Given the description of an element on the screen output the (x, y) to click on. 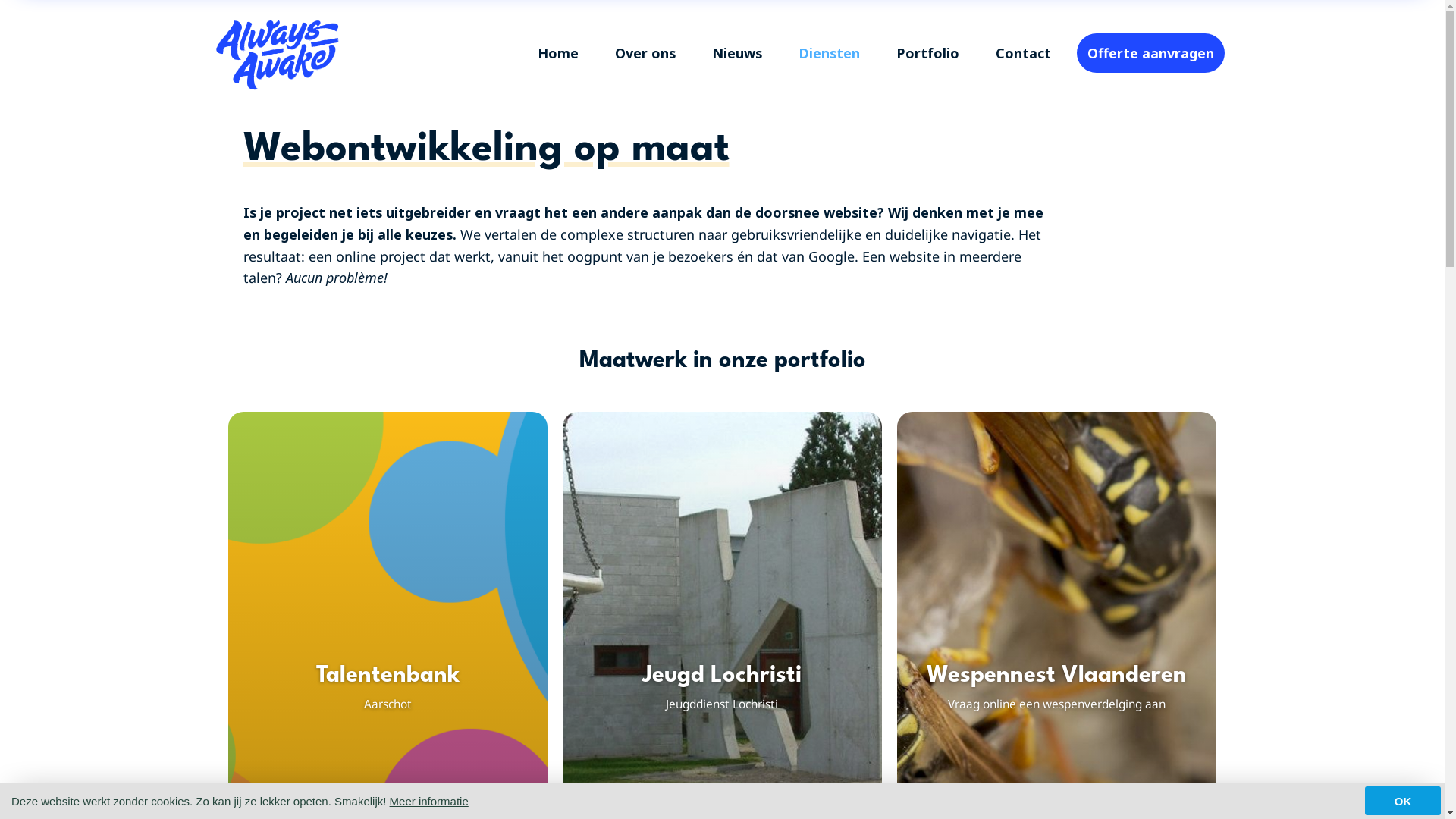
Contact Element type: text (1022, 52)
Jeugd Lochristi Element type: text (721, 676)
Home Element type: text (557, 52)
Over ons Element type: text (644, 52)
Portfolio Element type: text (927, 52)
Meer informatie Element type: text (428, 800)
Diensten Element type: text (828, 52)
Always Awake Element type: hover (276, 52)
Wespennest Vlaanderen Element type: text (1056, 676)
OK Element type: text (1402, 800)
Nieuws Element type: text (735, 52)
Offerte aanvragen Element type: text (1150, 52)
Talentenbank Element type: text (387, 676)
